Given the description of an element on the screen output the (x, y) to click on. 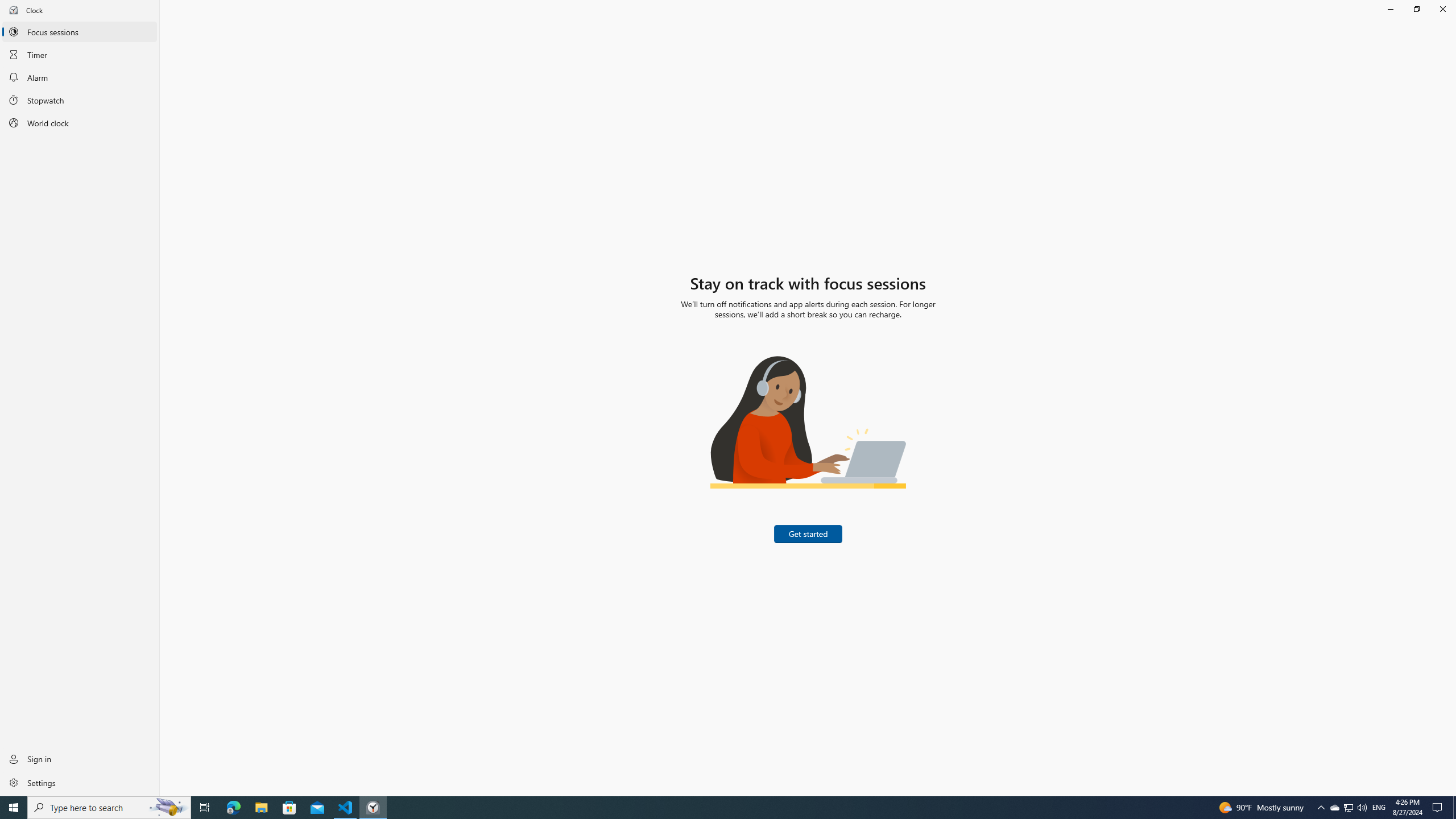
Notification Chevron (1320, 807)
Minimize Clock (1390, 9)
Close Clock (1442, 9)
World clock (79, 122)
Timer (79, 54)
Get started (808, 533)
Restore Clock (1333, 807)
Stopwatch (1416, 9)
Running applications (79, 100)
Start (706, 807)
Microsoft Edge (13, 807)
Alarm (233, 807)
Task View (79, 77)
